Given the description of an element on the screen output the (x, y) to click on. 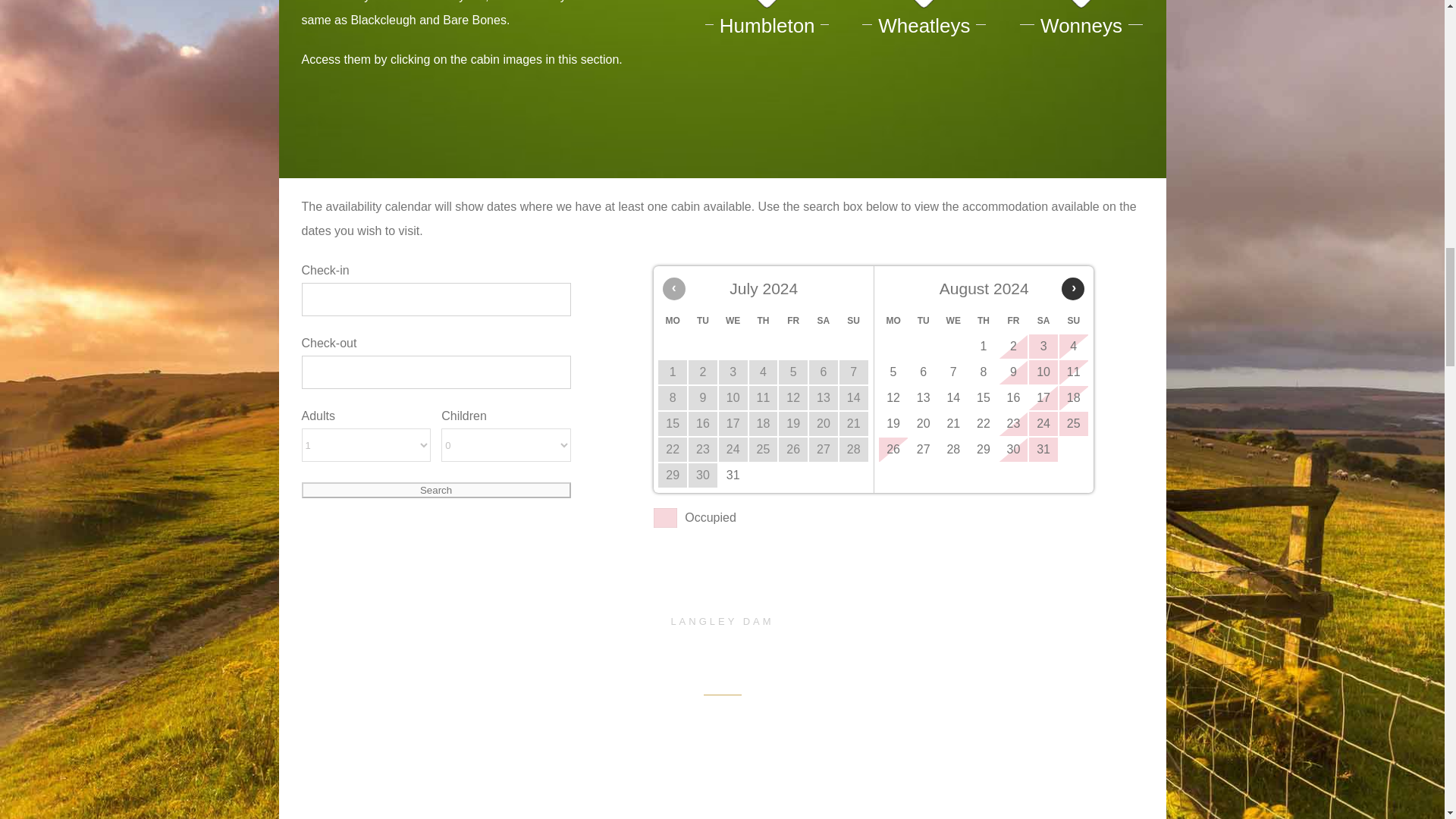
Search (435, 489)
Wednesday (732, 320)
Monday (672, 320)
Tuesday (703, 320)
